Given the description of an element on the screen output the (x, y) to click on. 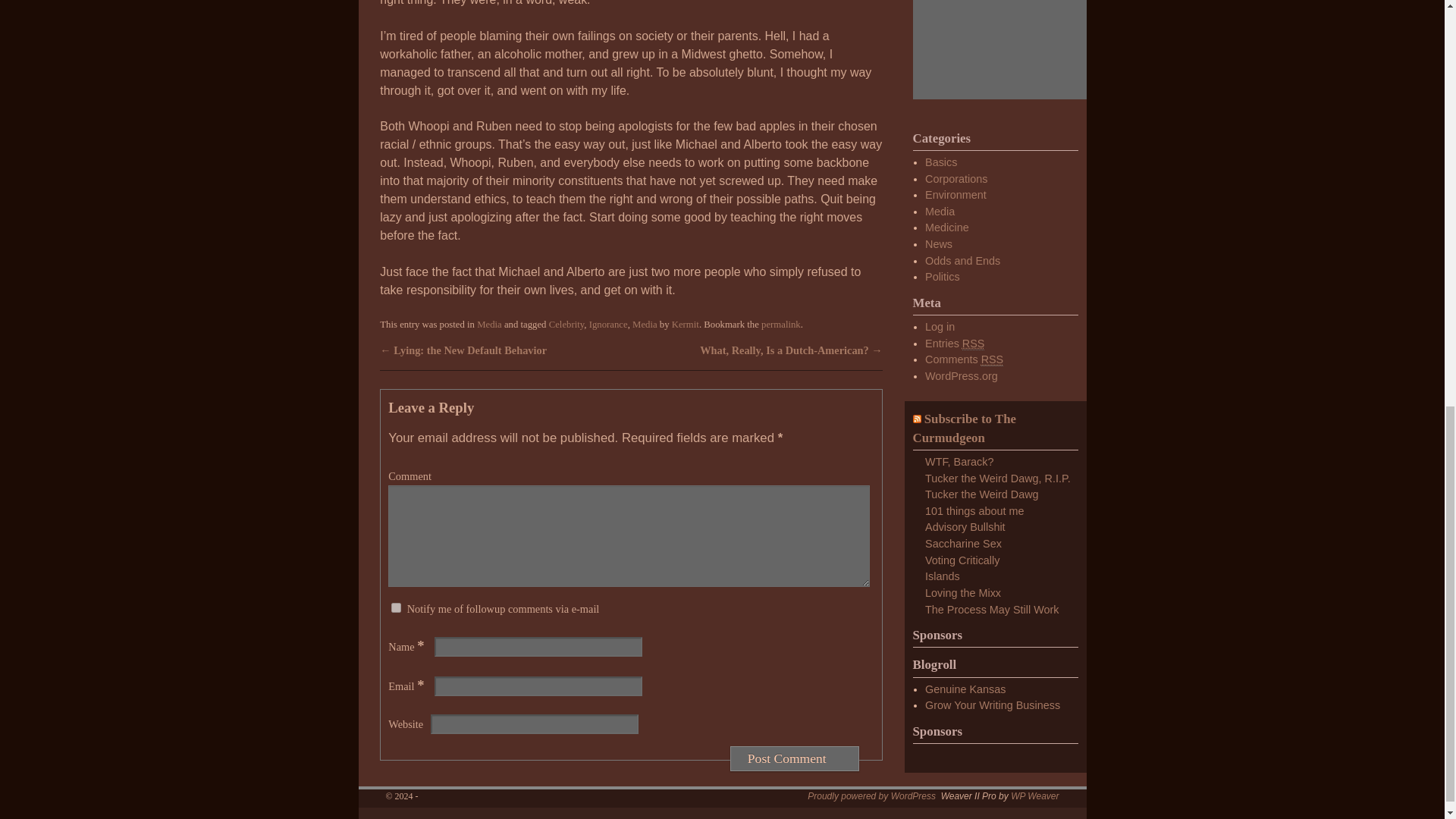
Really Simple Syndication (992, 359)
Celebrity (566, 324)
permalink (780, 324)
Kermit (684, 324)
Post Comment (794, 758)
Ignorance (608, 324)
Really Simple Syndication (973, 343)
Media (644, 324)
Media (489, 324)
subscribe (396, 607)
Post Comment (794, 758)
Permalink to Celebrity Weak People (780, 324)
Advertisement (1007, 49)
